Given the description of an element on the screen output the (x, y) to click on. 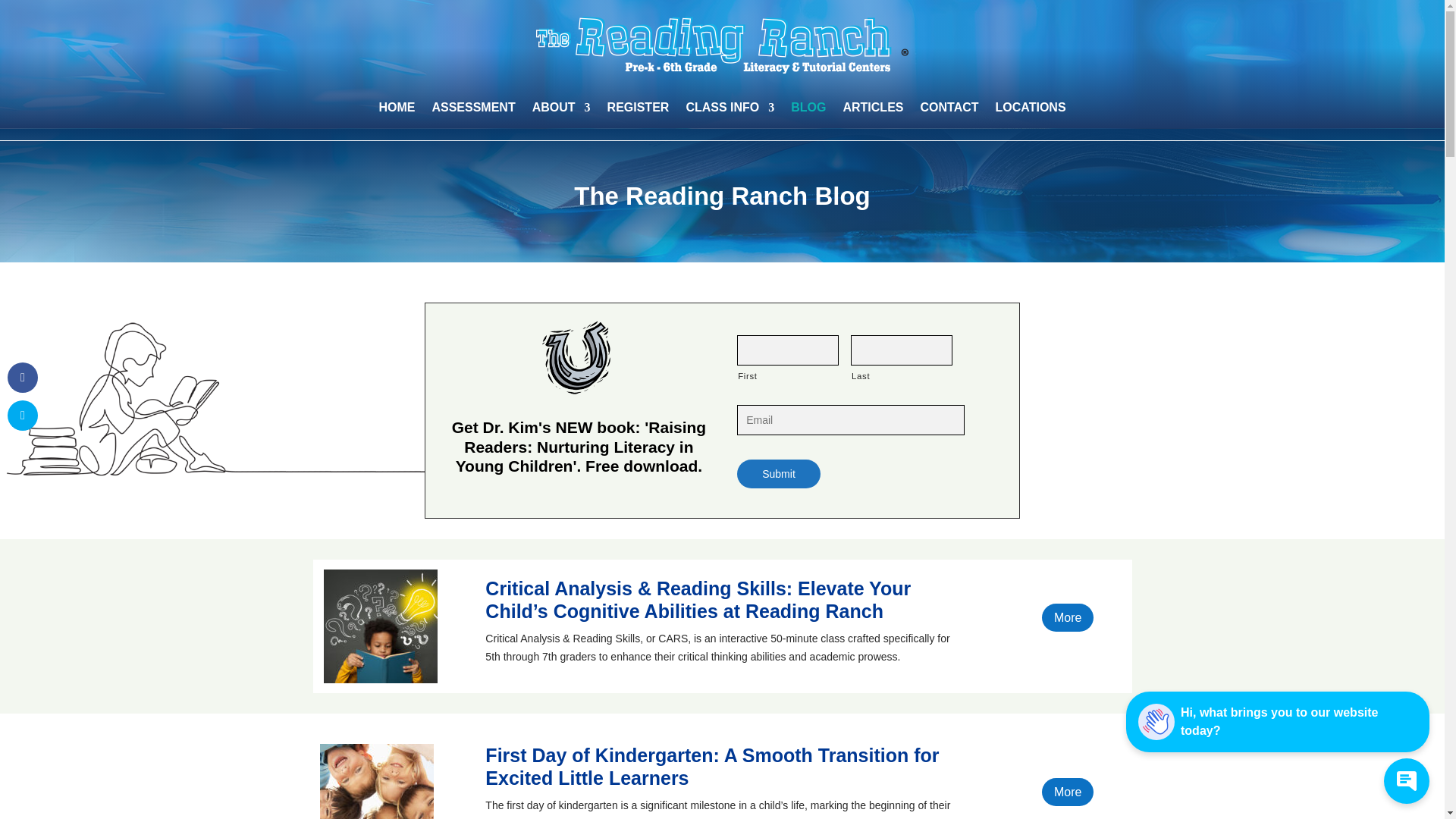
CONTACT (949, 110)
HOME (396, 110)
ASSESSMENT (472, 110)
rr-logo-web-modified (721, 44)
LOCATIONS (1030, 110)
Submit (778, 473)
ARTICLES (872, 110)
Submit (778, 473)
REGISTER (638, 110)
BLOG (807, 110)
ABOUT (561, 110)
CLASS INFO (729, 110)
